Given the description of an element on the screen output the (x, y) to click on. 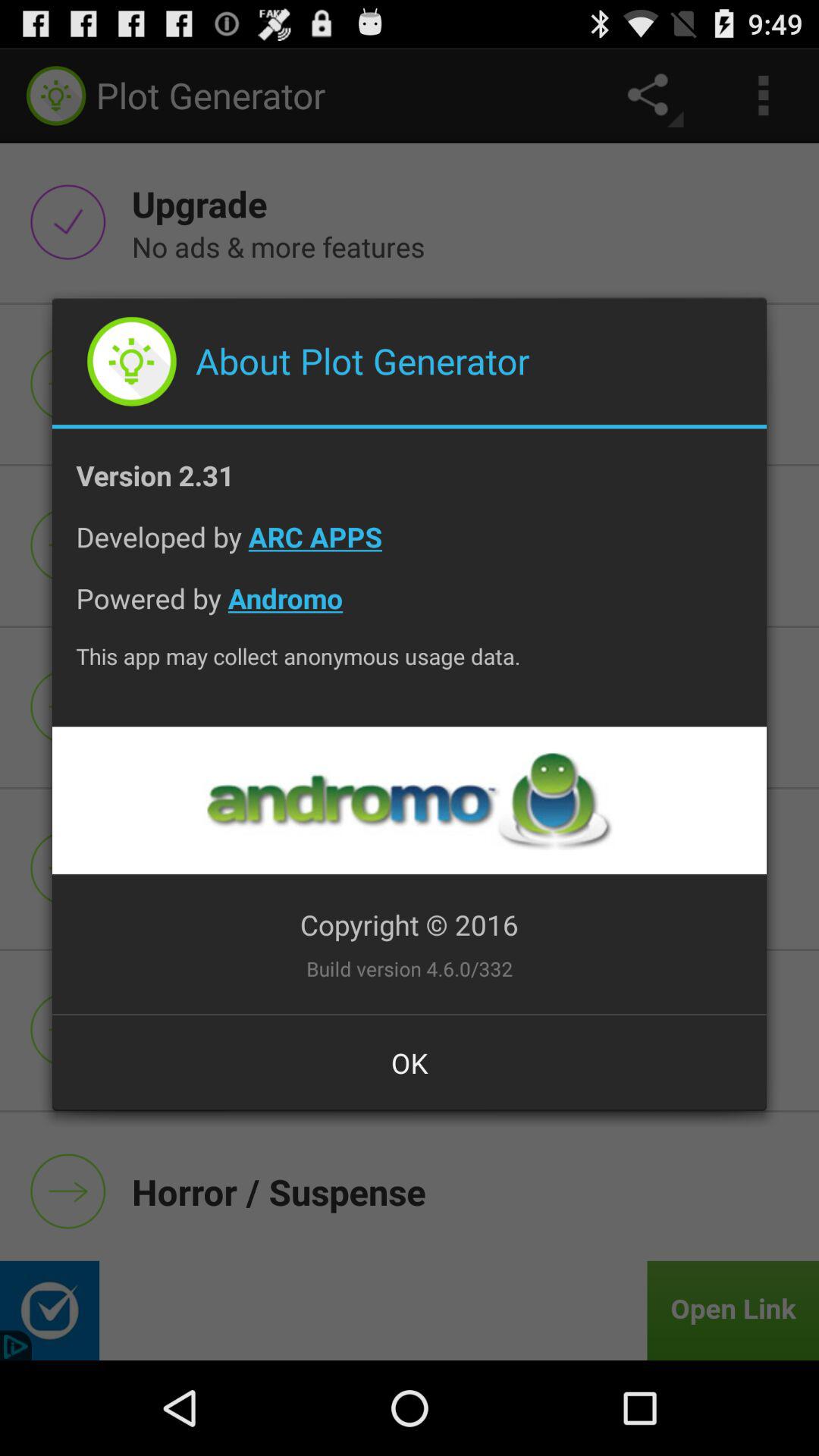
press the item below the this app may icon (408, 800)
